Given the description of an element on the screen output the (x, y) to click on. 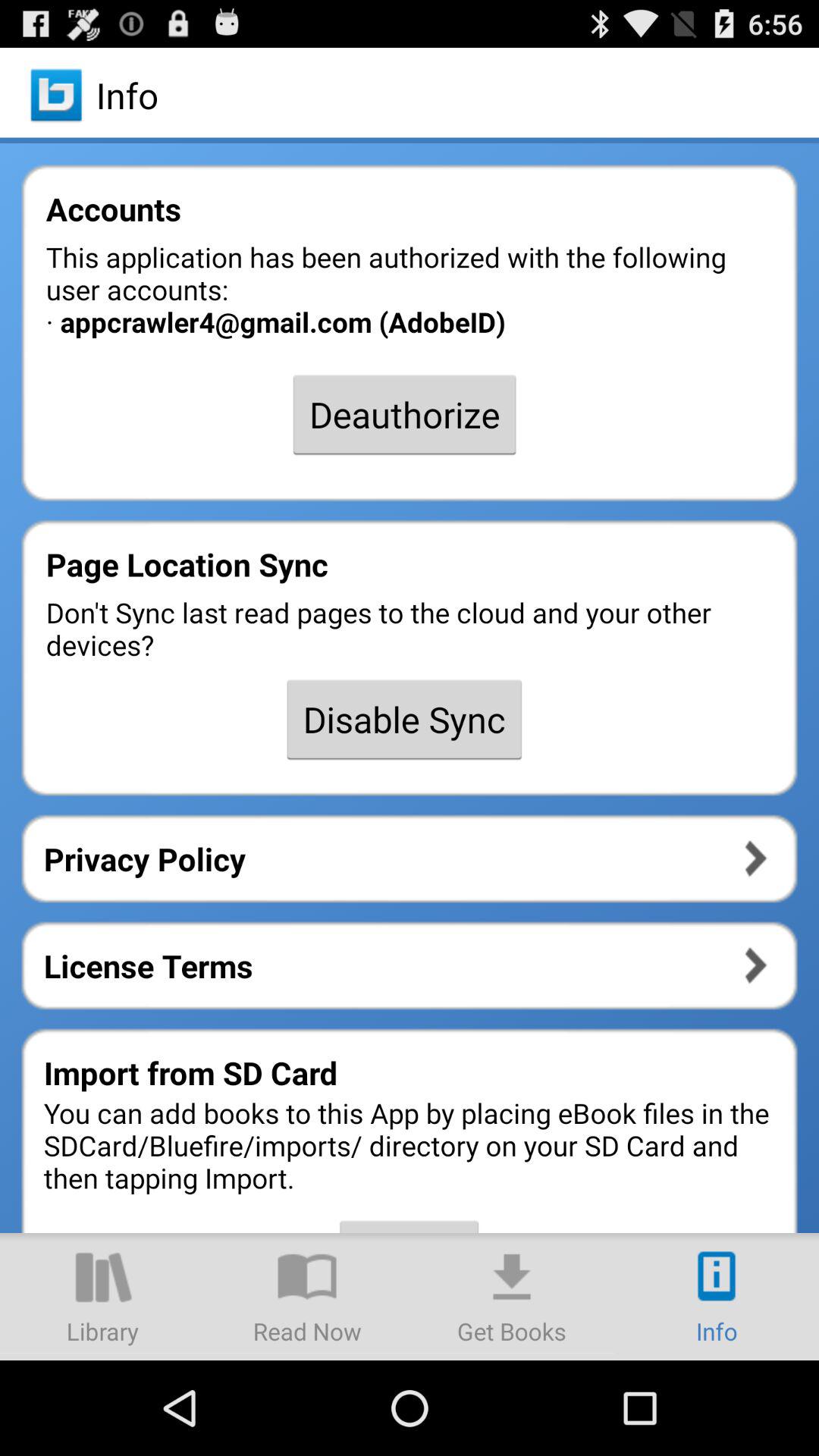
more info icon (716, 1296)
